Given the description of an element on the screen output the (x, y) to click on. 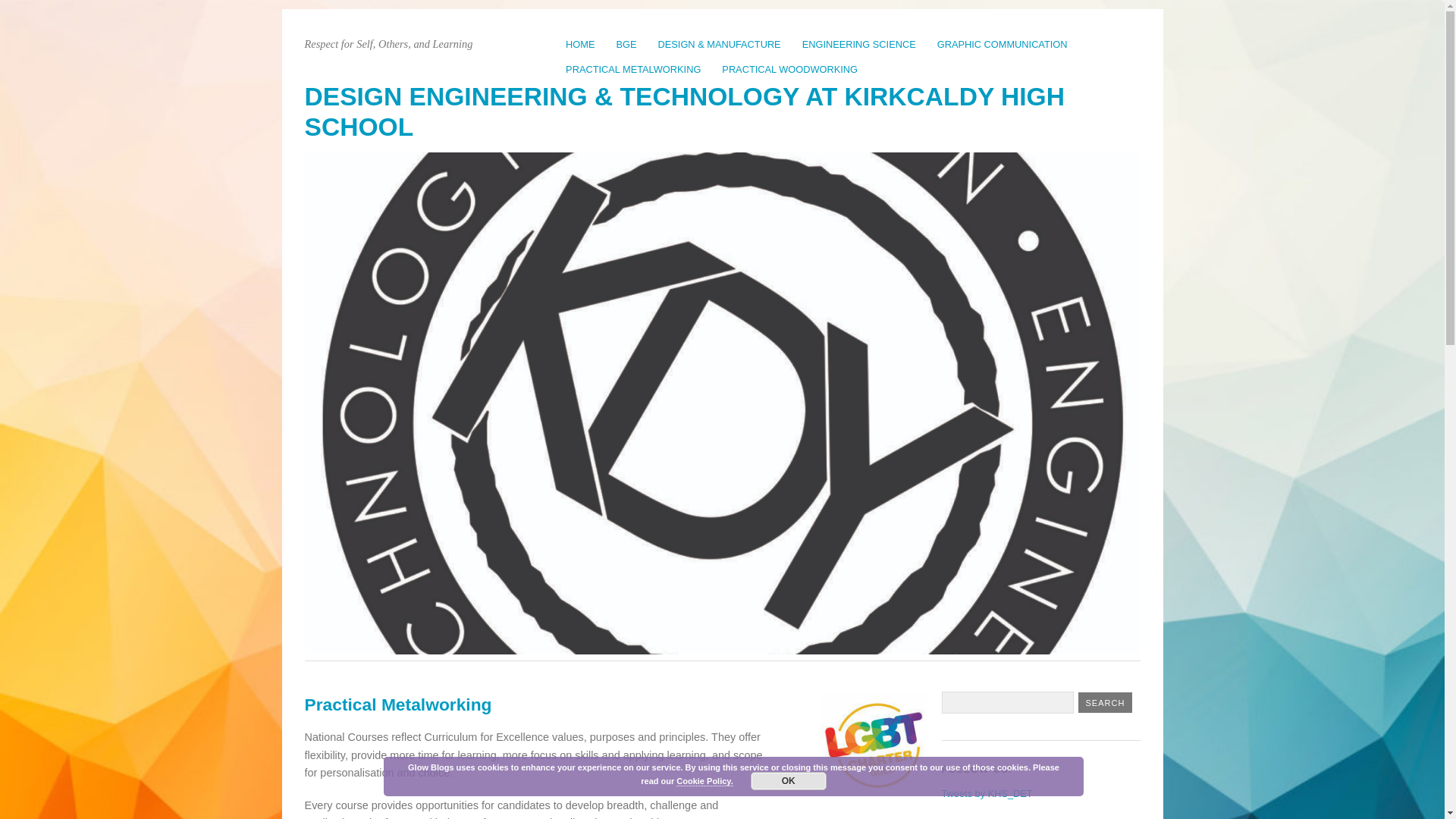
Page 4 (540, 773)
PRACTICAL METALWORKING (632, 68)
OK (789, 781)
Cookie Policy. (704, 781)
Search (1105, 702)
BGE (626, 43)
Search (1105, 702)
GRAPHIC COMMUNICATION (1002, 43)
Search (1105, 702)
ENGINEERING SCIENCE (859, 43)
